Given the description of an element on the screen output the (x, y) to click on. 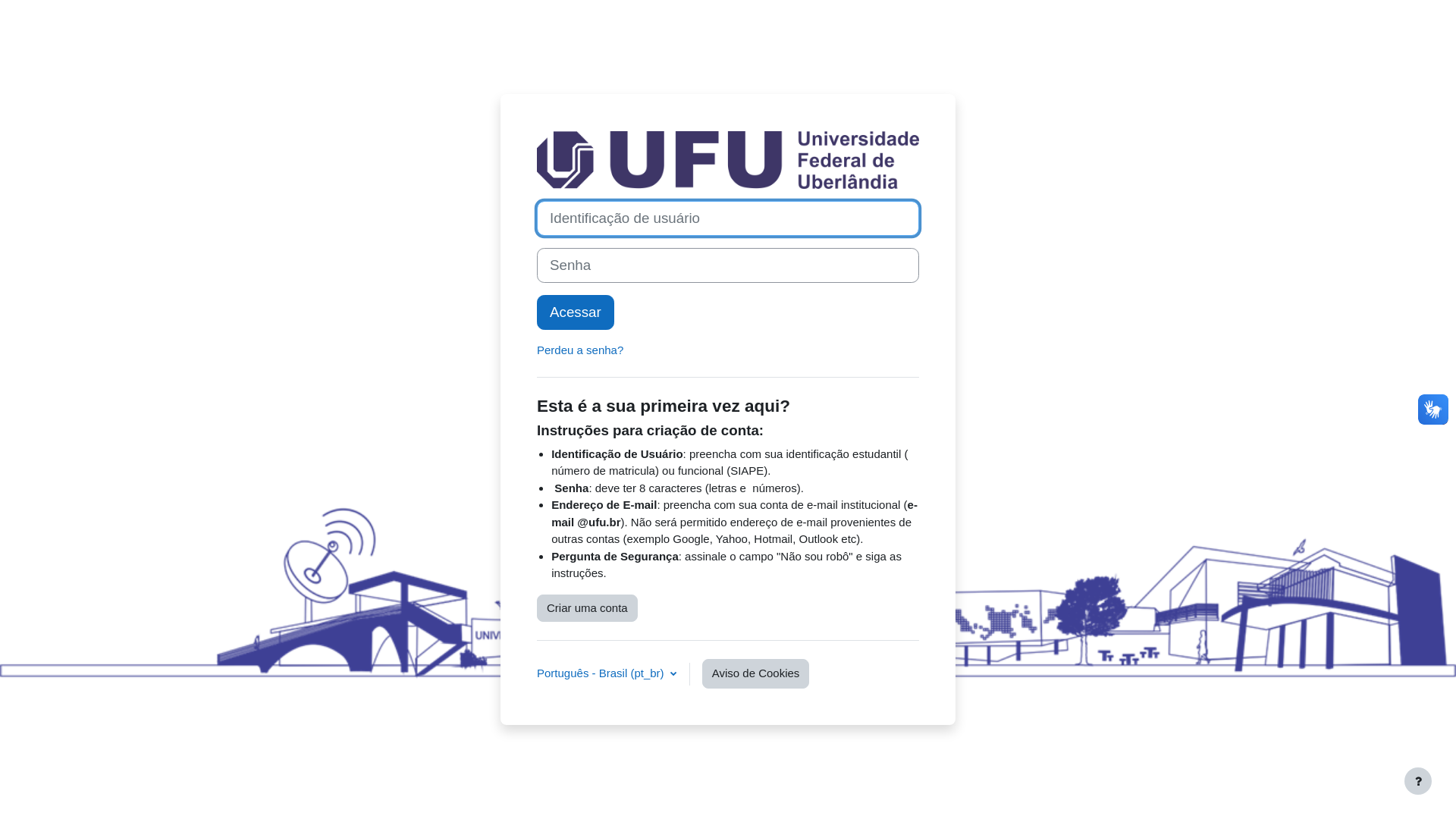
Aviso de Cookies Element type: text (755, 673)
Criar uma conta Element type: text (586, 608)
Perdeu a senha? Element type: text (579, 349)
Acessar Element type: text (575, 311)
